Given the description of an element on the screen output the (x, y) to click on. 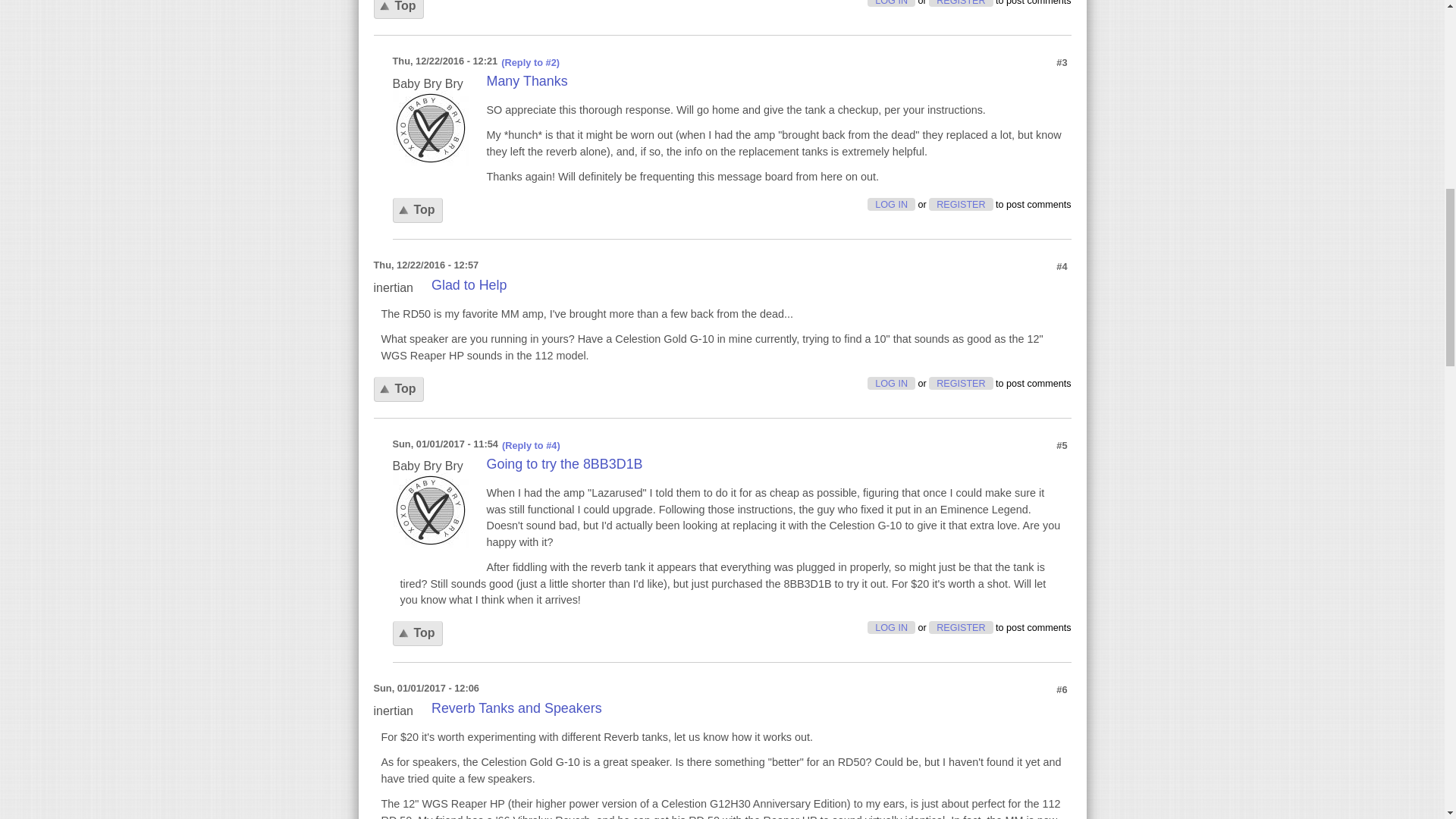
LOG IN (891, 204)
Top (417, 210)
LOG IN (891, 3)
Baby Bry Bry's picture (430, 509)
REGISTER (960, 382)
Top (397, 9)
Jump to top of page (397, 389)
Jump to top of page (397, 9)
Jump to top of page (417, 633)
Top (397, 389)
LOG IN (891, 382)
REGISTER (960, 3)
REGISTER (960, 204)
Jump to top of page (417, 210)
Baby Bry Bry's picture (430, 128)
